Given the description of an element on the screen output the (x, y) to click on. 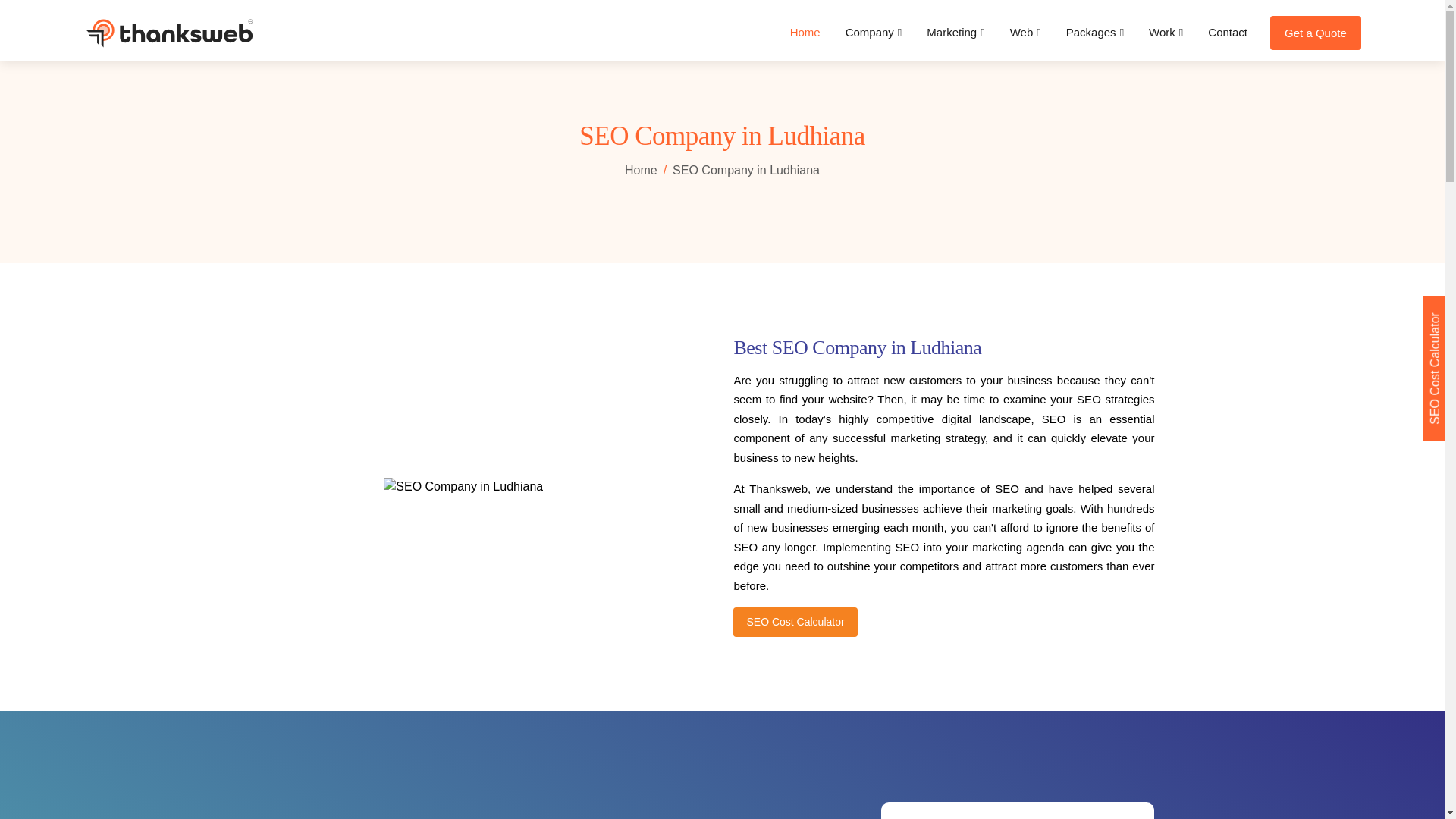
Packages (1094, 32)
Thanksweb - Best SEO Company in Ahmedabad (168, 33)
Marketing Services (955, 32)
Company (873, 32)
Home (641, 170)
Home (804, 32)
Work (1166, 32)
Marketing (955, 32)
Contact (1227, 32)
Company (873, 32)
